Given the description of an element on the screen output the (x, y) to click on. 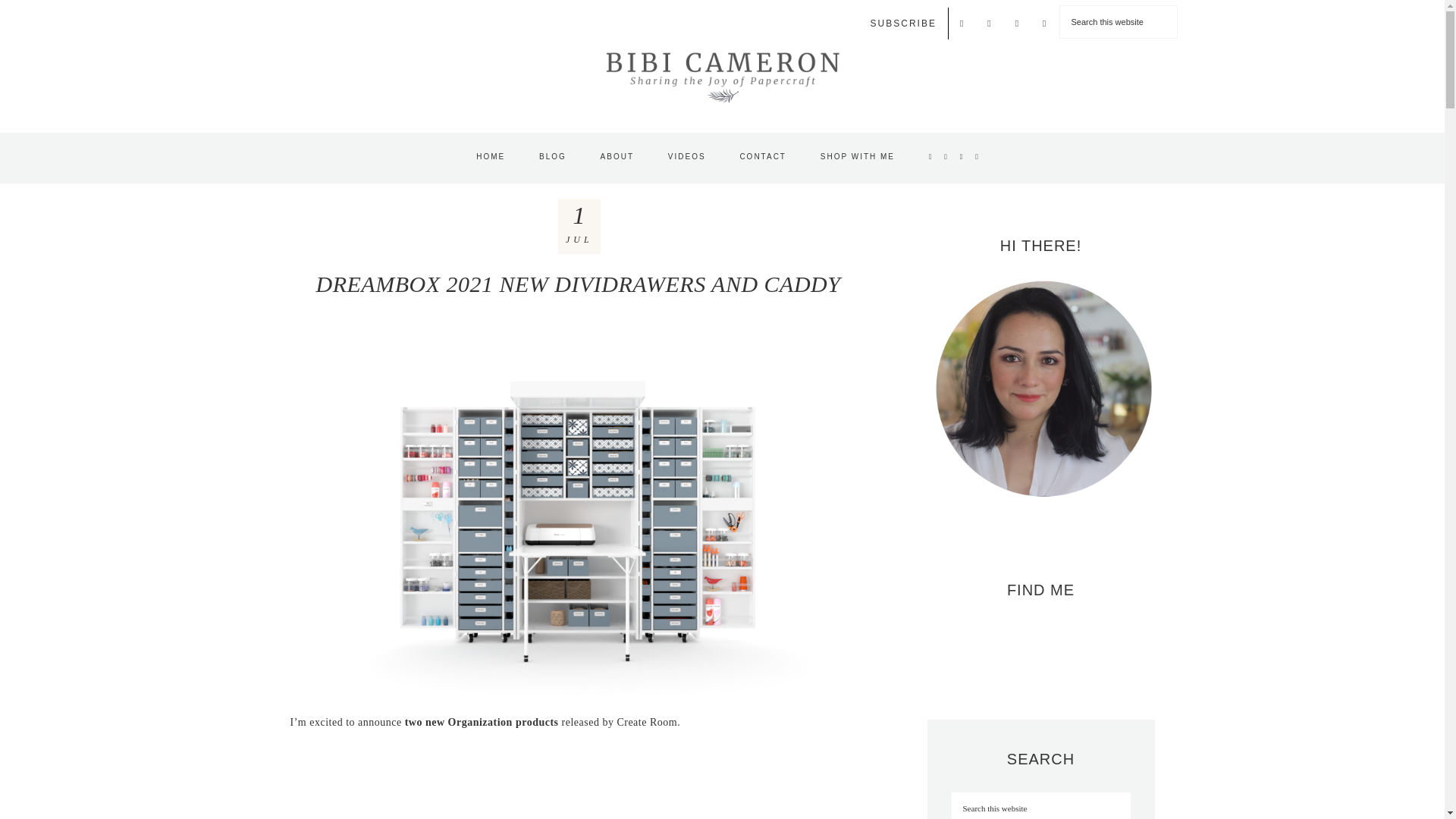
SUBSCRIBE (904, 23)
SHOP WITH ME (857, 157)
VIDEOS (686, 157)
HOME (490, 157)
ABOUT (617, 157)
BLOG (552, 157)
BIBI CAMERON (722, 75)
